Given the description of an element on the screen output the (x, y) to click on. 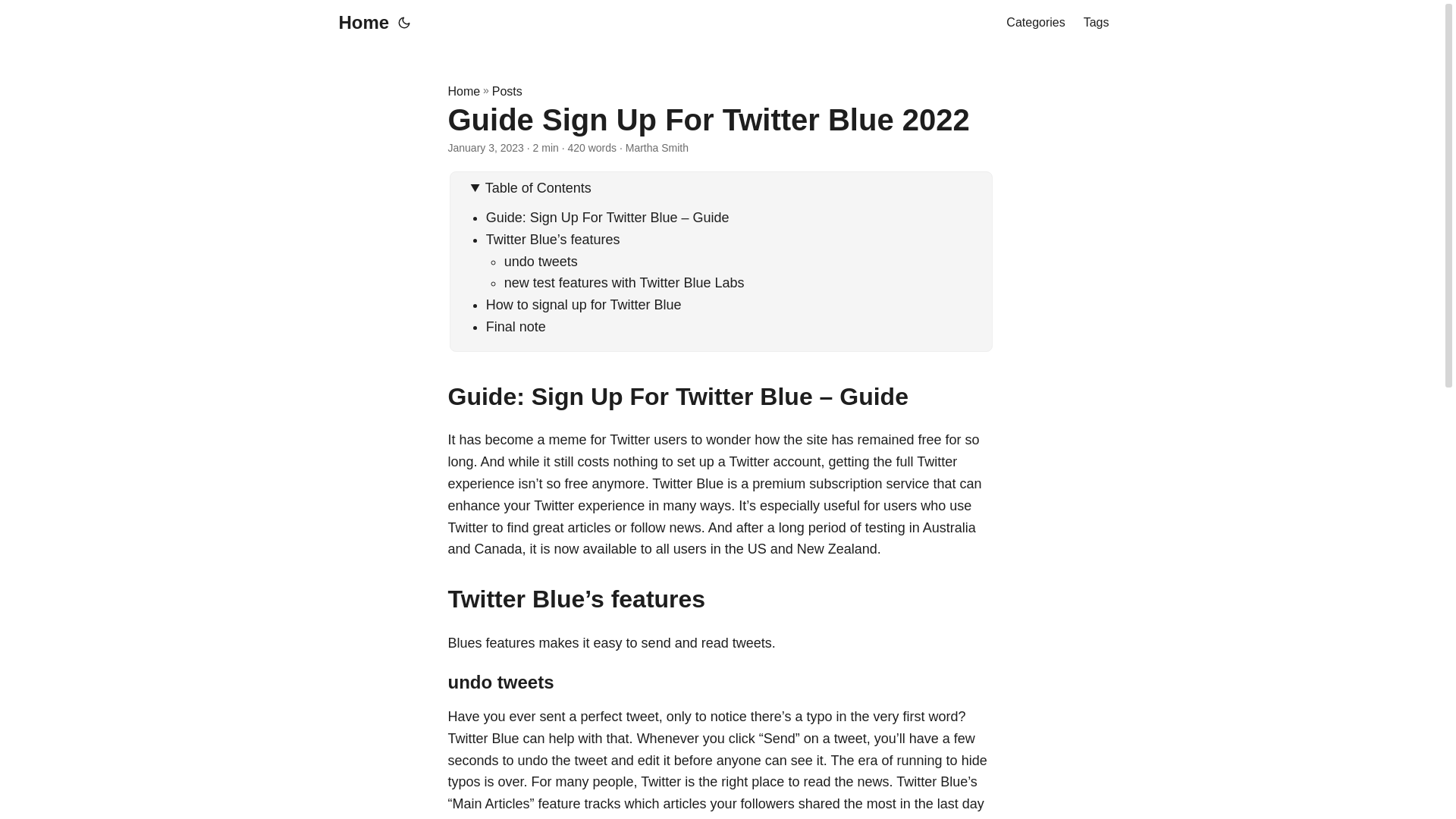
Categories (1035, 22)
undo tweets (540, 261)
Posts (507, 91)
Categories (1035, 22)
Final note (516, 326)
How to signal up for Twitter Blue (583, 304)
Home (463, 91)
Home (359, 22)
new test features with Twitter Blue Labs (623, 282)
